Given the description of an element on the screen output the (x, y) to click on. 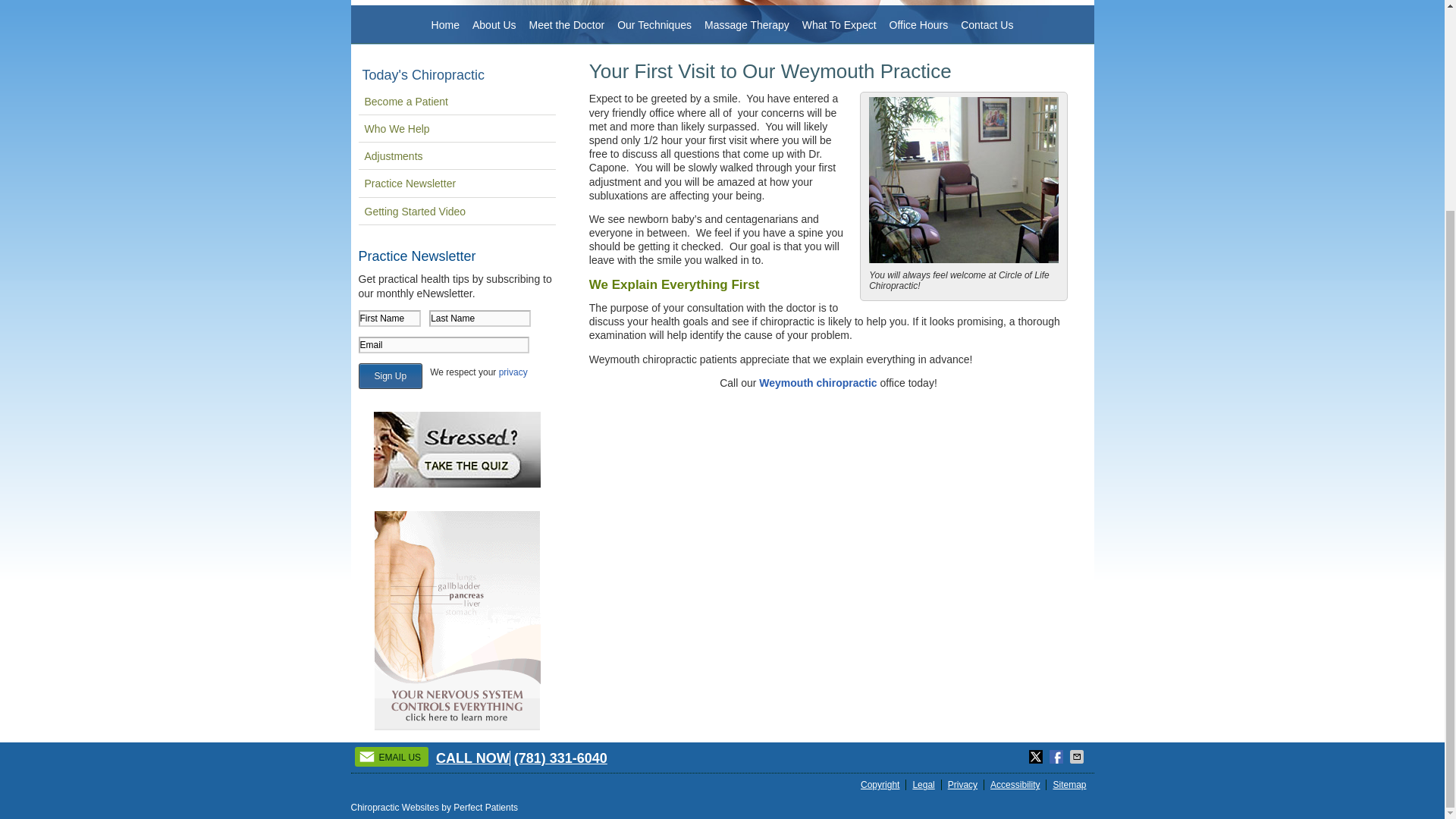
Footer Links (970, 784)
Contact (392, 756)
First Name (389, 318)
About Us (493, 25)
Massage Therapy (747, 25)
Last Name (480, 318)
Contact Us (817, 382)
Become a Patient (456, 101)
Home (445, 25)
Contact Us (987, 25)
Email (443, 344)
Office Hours (919, 25)
What To Expect (839, 25)
Who We Help (456, 128)
Sign Up (390, 376)
